Given the description of an element on the screen output the (x, y) to click on. 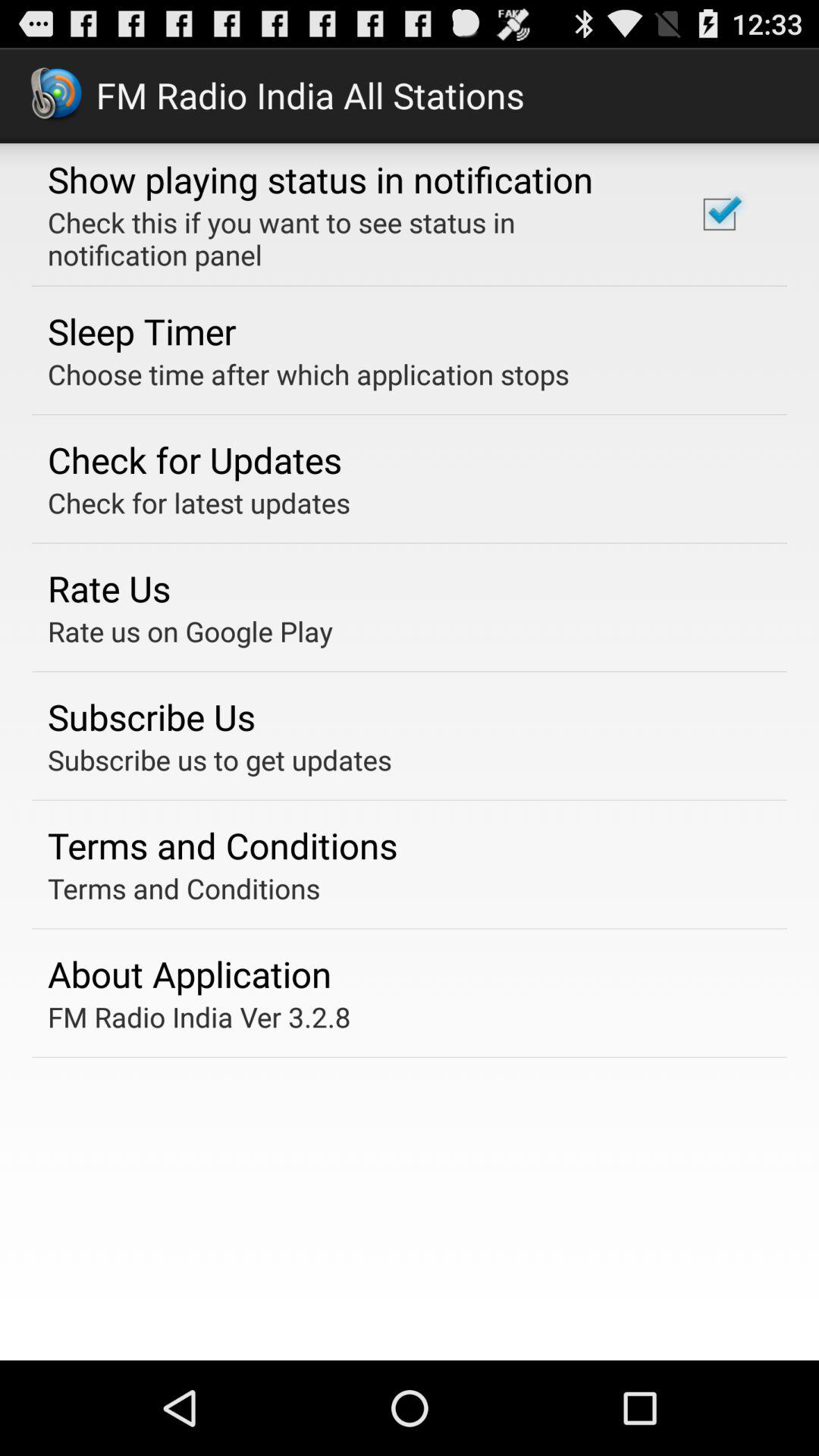
press the app below check this if app (141, 331)
